Given the description of an element on the screen output the (x, y) to click on. 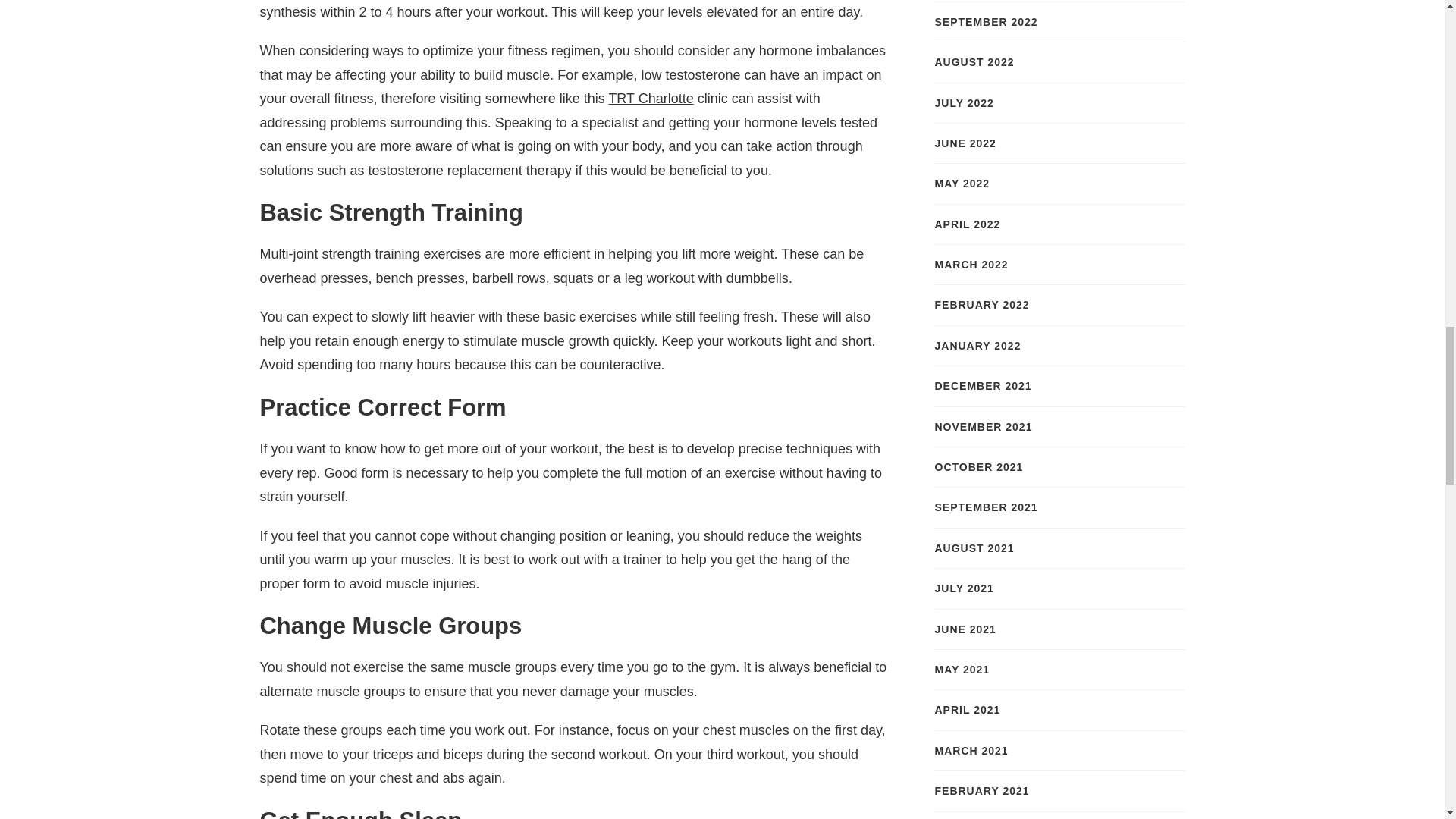
TRT Charlotte (650, 98)
leg workout with dumbbells (706, 278)
